Given the description of an element on the screen output the (x, y) to click on. 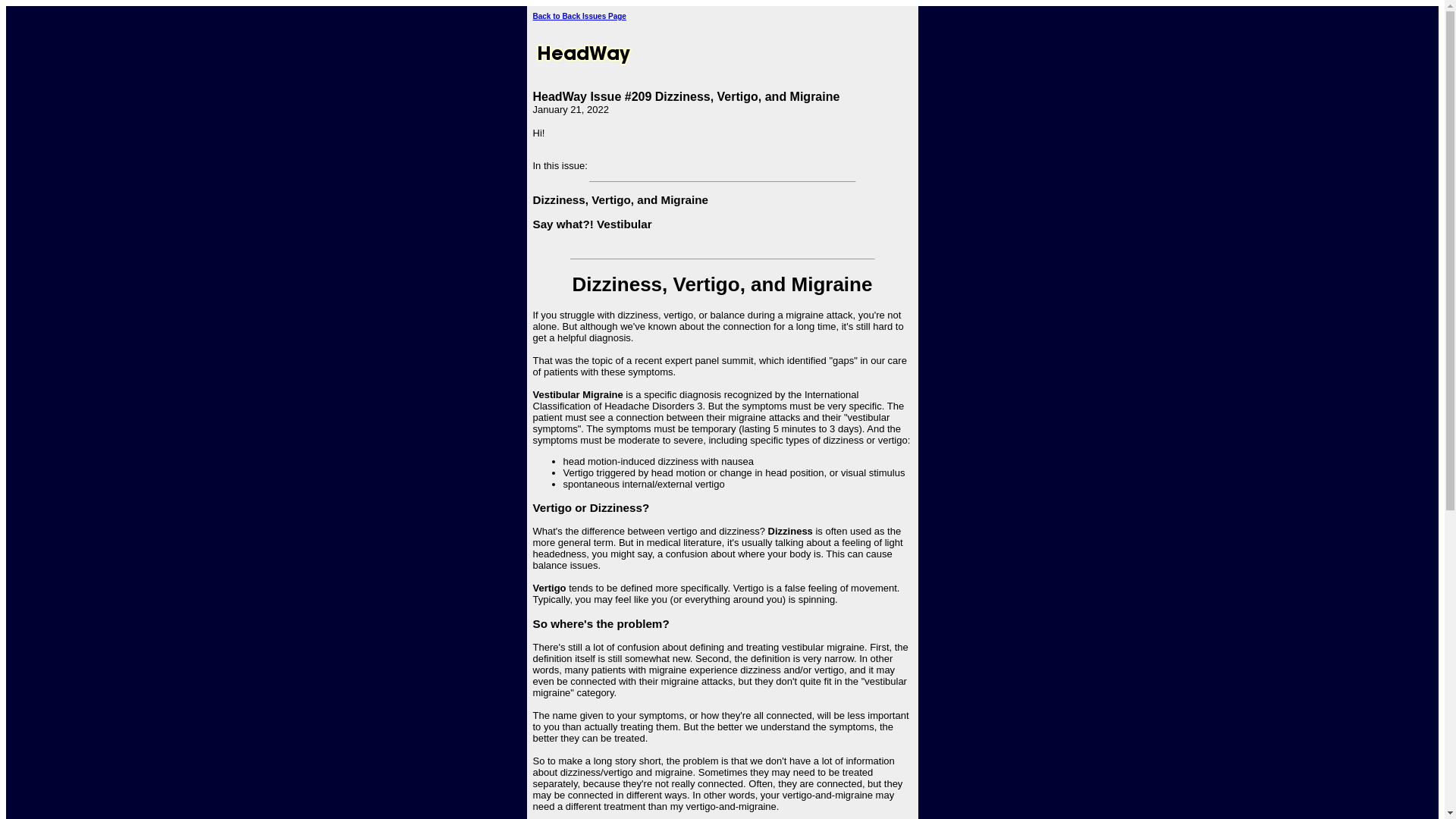
Back to Back Issues Page (579, 16)
